Given the description of an element on the screen output the (x, y) to click on. 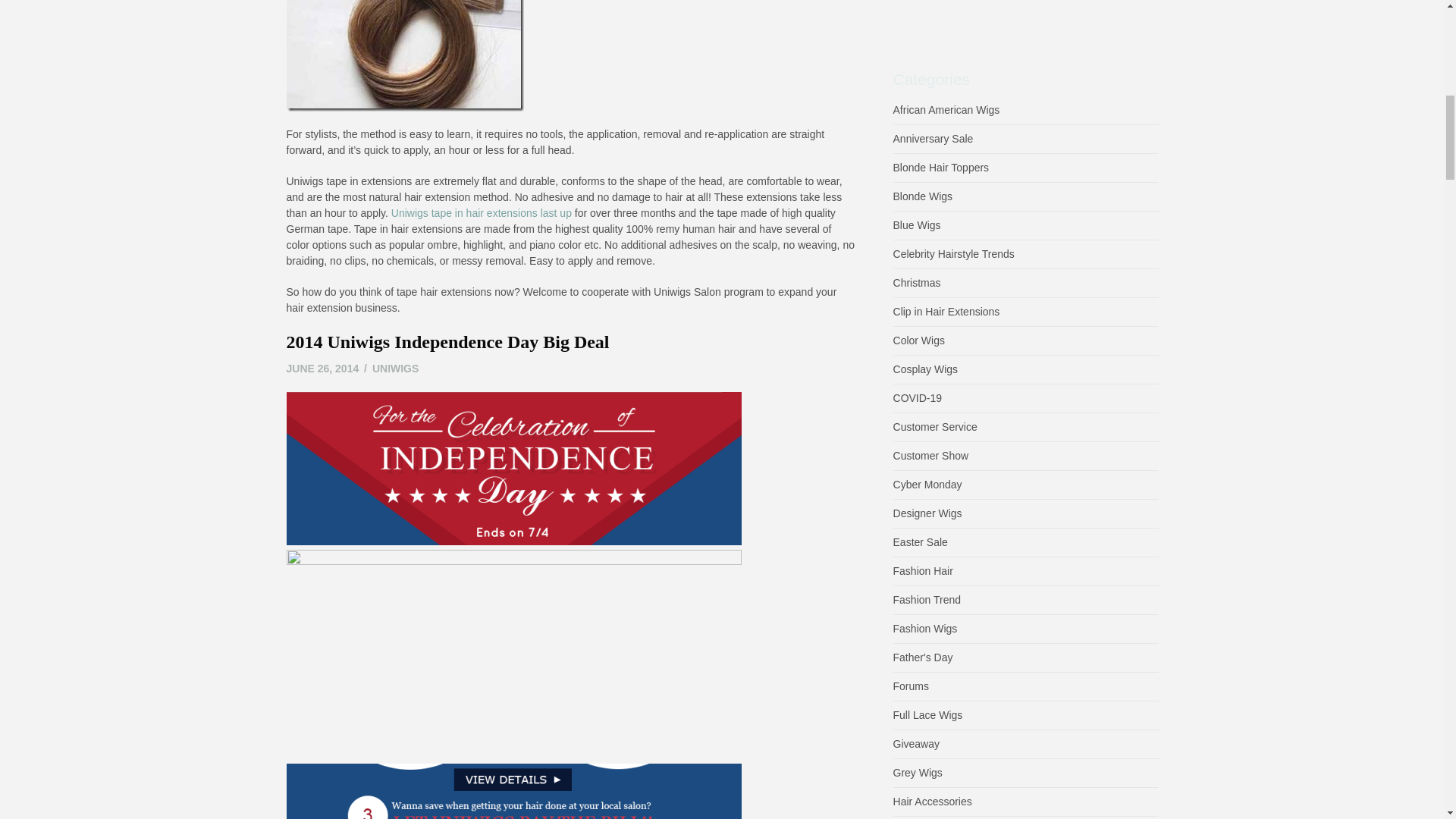
UNIWIGS (395, 368)
Uniwigs tape in hair extensions last up (481, 213)
African American Wigs (946, 110)
2014 Uniwigs Independence Day Big Deal (322, 368)
Anniversary Sale (448, 342)
Blonde Hair Toppers (933, 138)
